Given the description of an element on the screen output the (x, y) to click on. 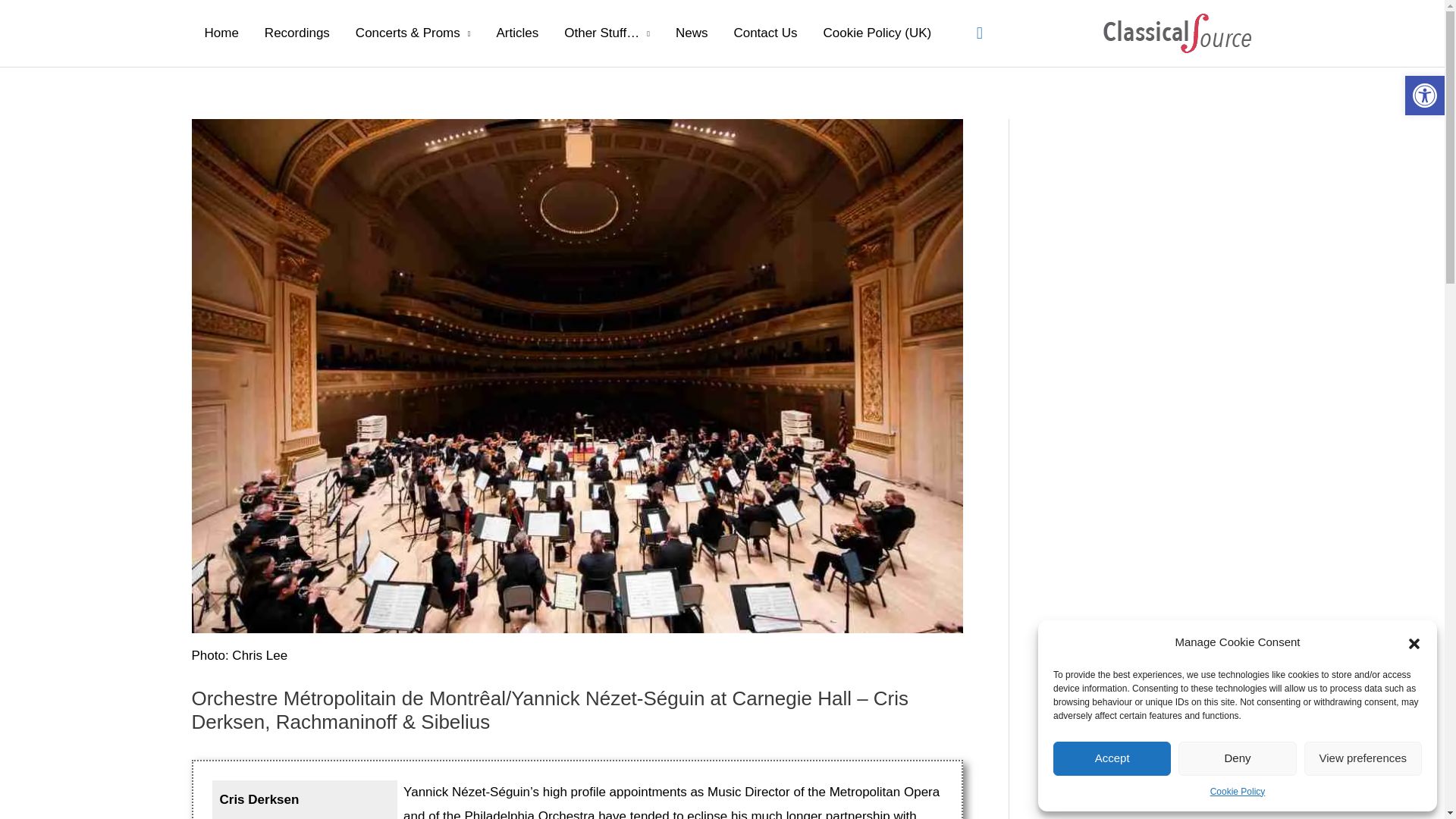
Accessibility Tools (1424, 95)
Recordings (296, 33)
Home (220, 33)
View preferences (1363, 758)
Accept (1111, 758)
Deny (1236, 758)
Articles (517, 33)
Cookie Policy (1237, 791)
